Given the description of an element on the screen output the (x, y) to click on. 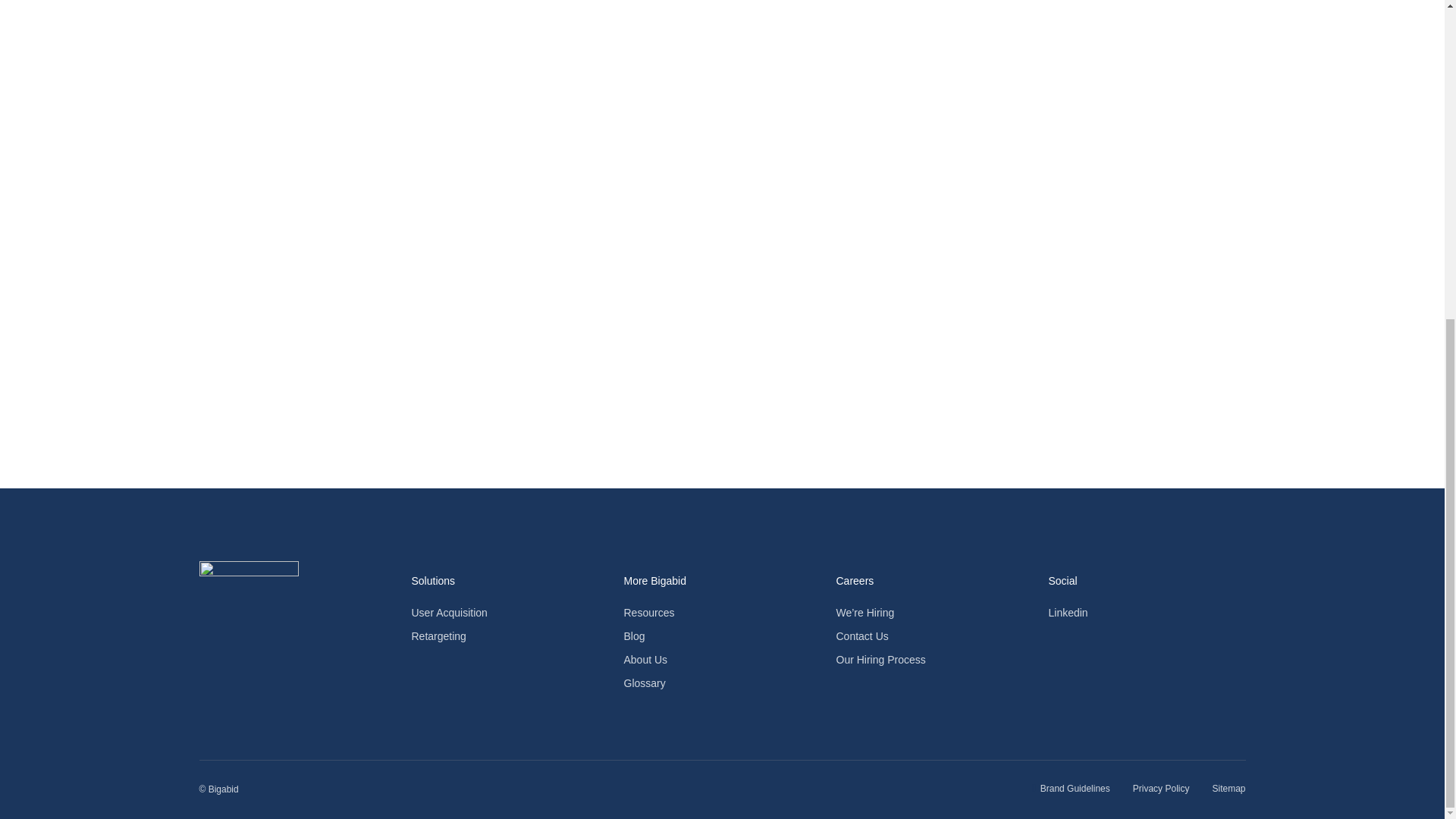
Blog (722, 636)
User Acquisition (509, 612)
Resources (722, 612)
Retargeting (509, 636)
